Given the description of an element on the screen output the (x, y) to click on. 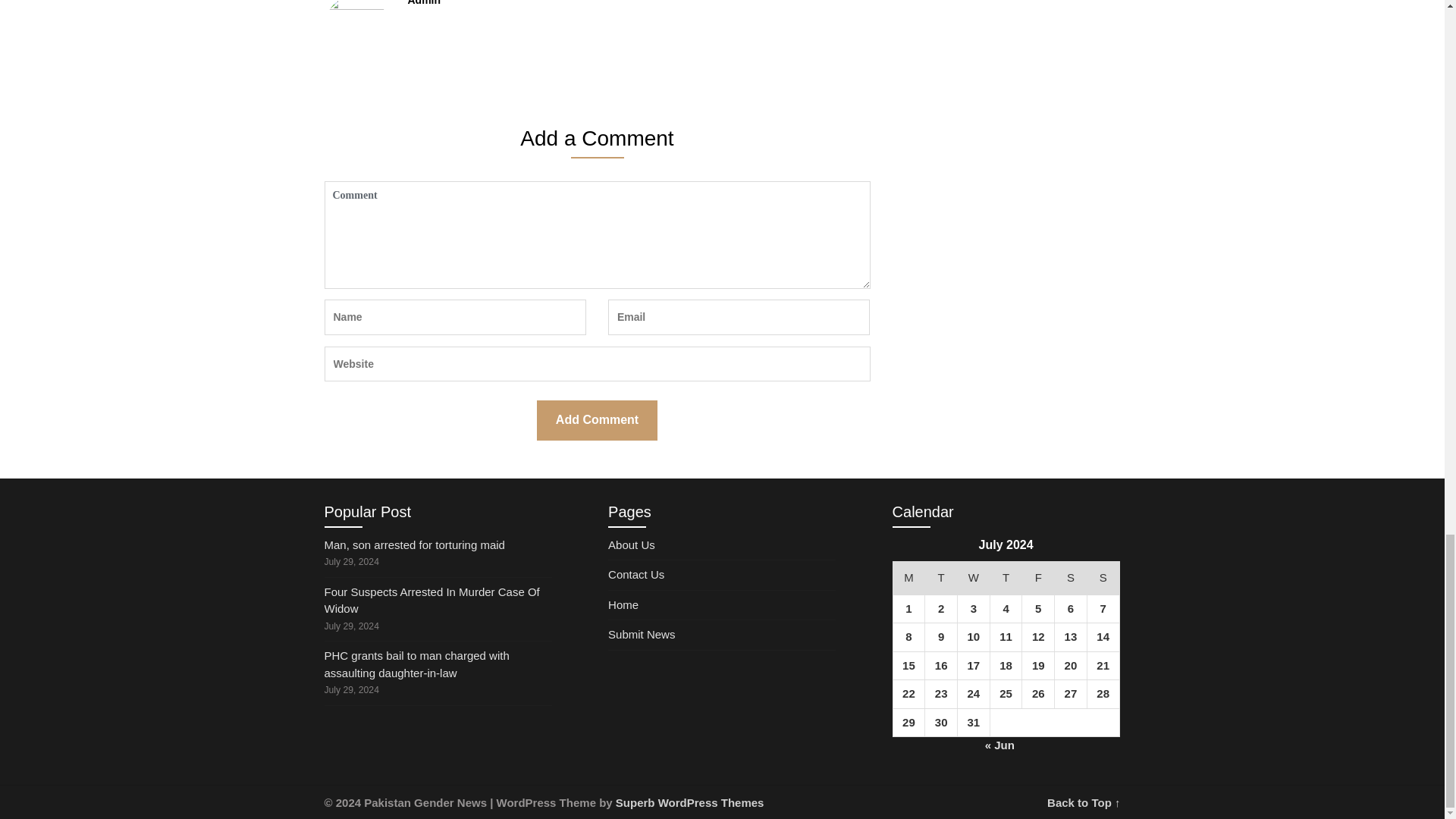
Add Comment (597, 420)
Add Comment (597, 420)
